Given the description of an element on the screen output the (x, y) to click on. 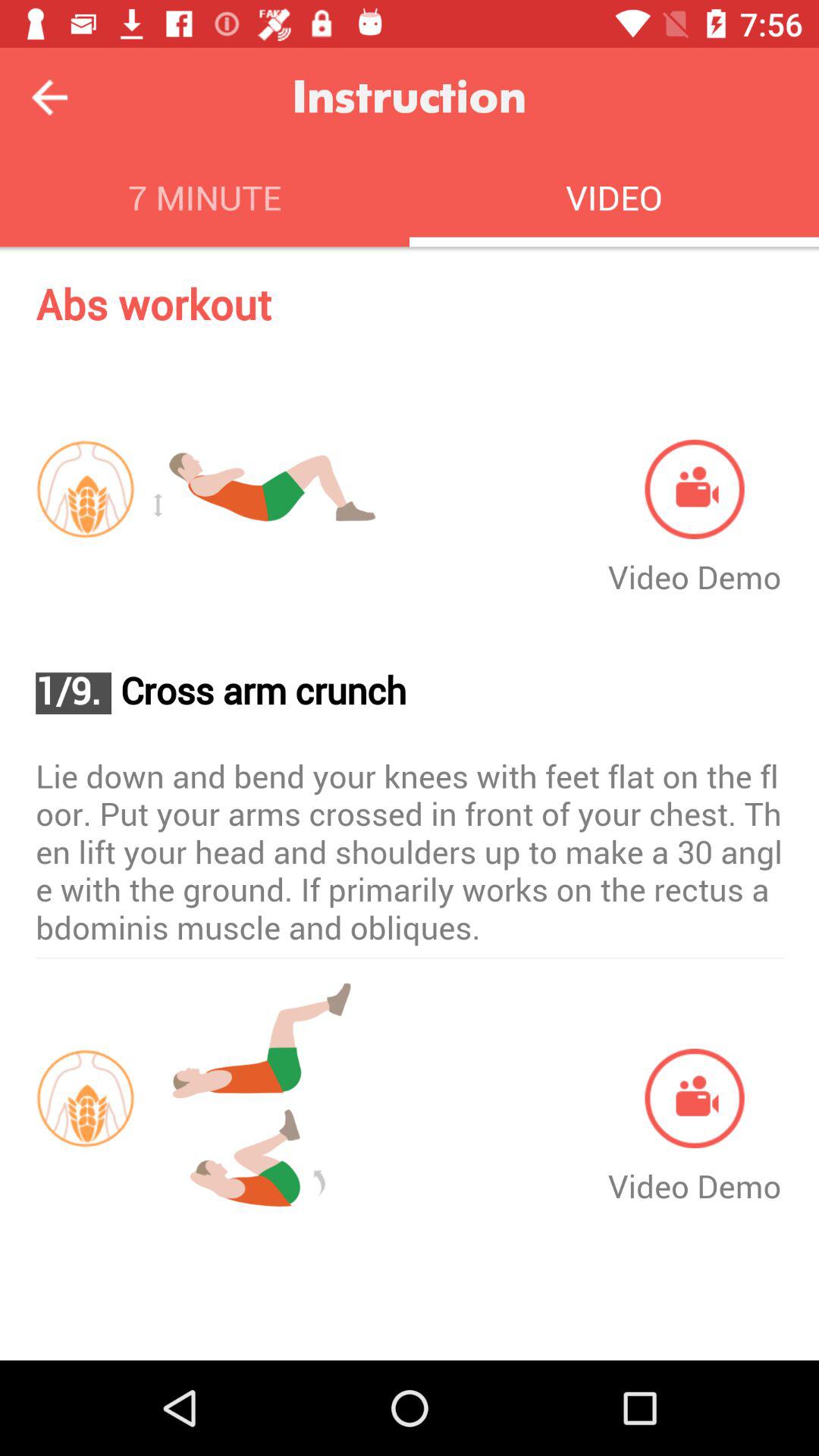
go to previous (49, 97)
